Given the description of an element on the screen output the (x, y) to click on. 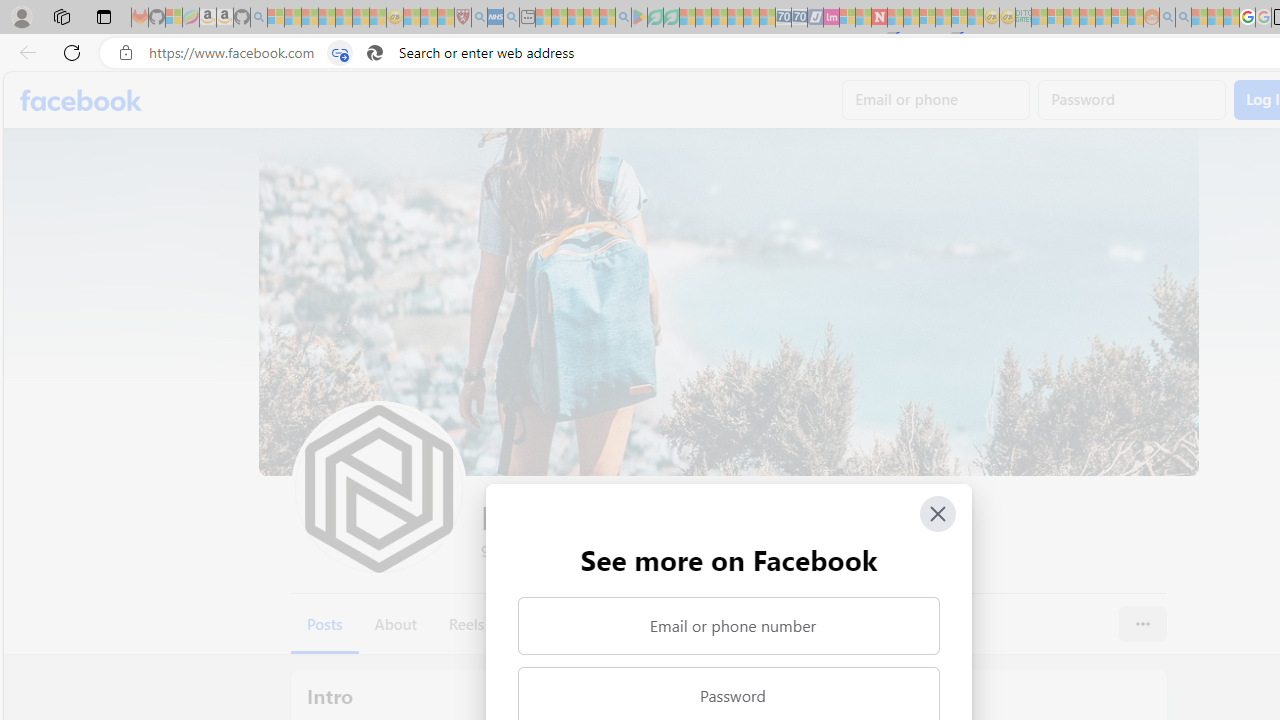
Latest Politics News & Archive | Newsweek.com - Sleeping (879, 17)
utah sues federal government - Search - Sleeping (511, 17)
Cheap Car Rentals - Save70.com - Sleeping (783, 17)
Jobs - lastminute.com Investor Portal - Sleeping (831, 17)
Expert Portfolios - Sleeping (1087, 17)
Trusted Community Engagement and Contributions | Guidelines (895, 17)
Utah sues federal government - Search - Sleeping (1183, 17)
